Given the description of an element on the screen output the (x, y) to click on. 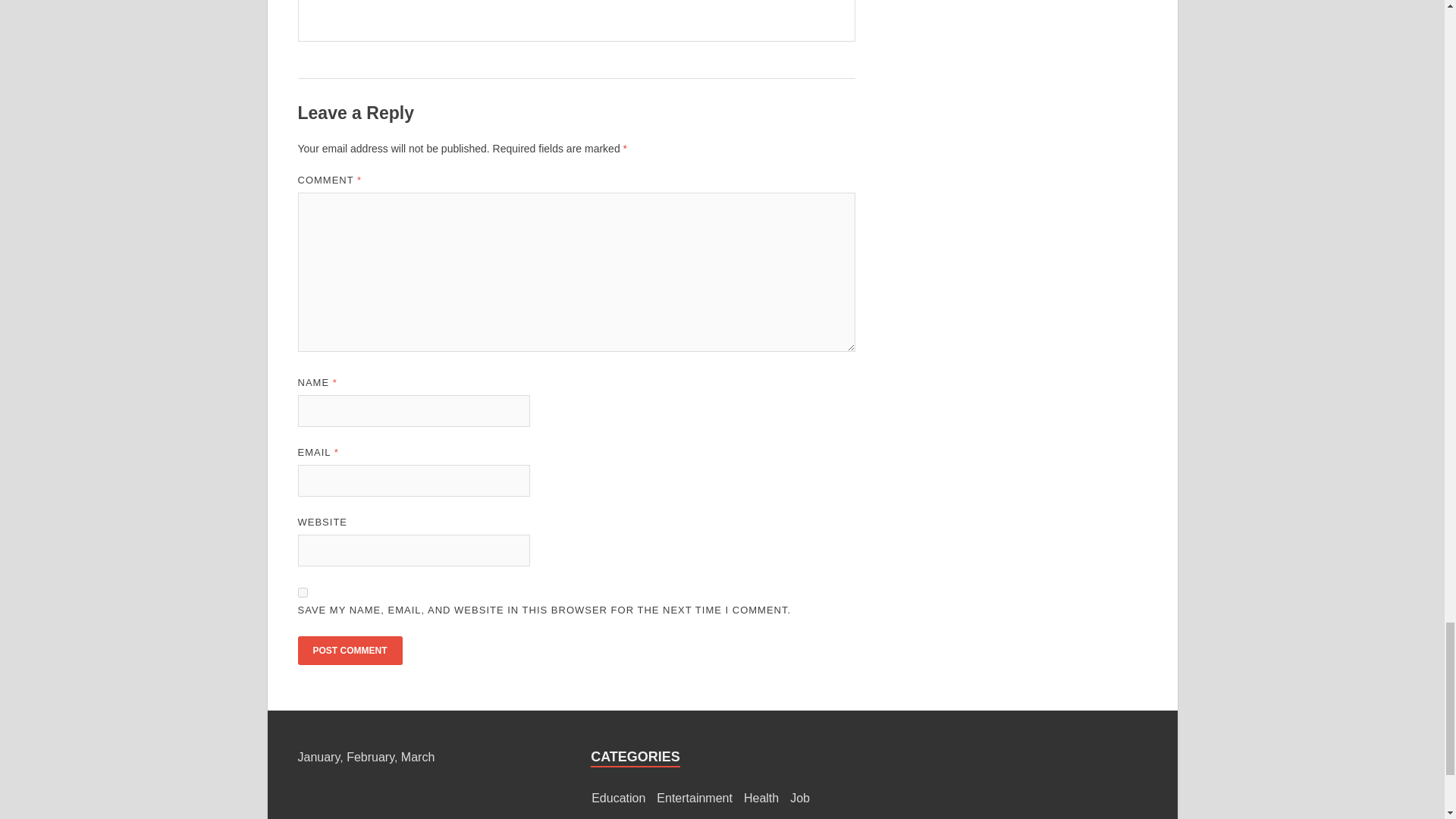
Post Comment (349, 650)
yes (302, 592)
Post Comment (349, 650)
